Given the description of an element on the screen output the (x, y) to click on. 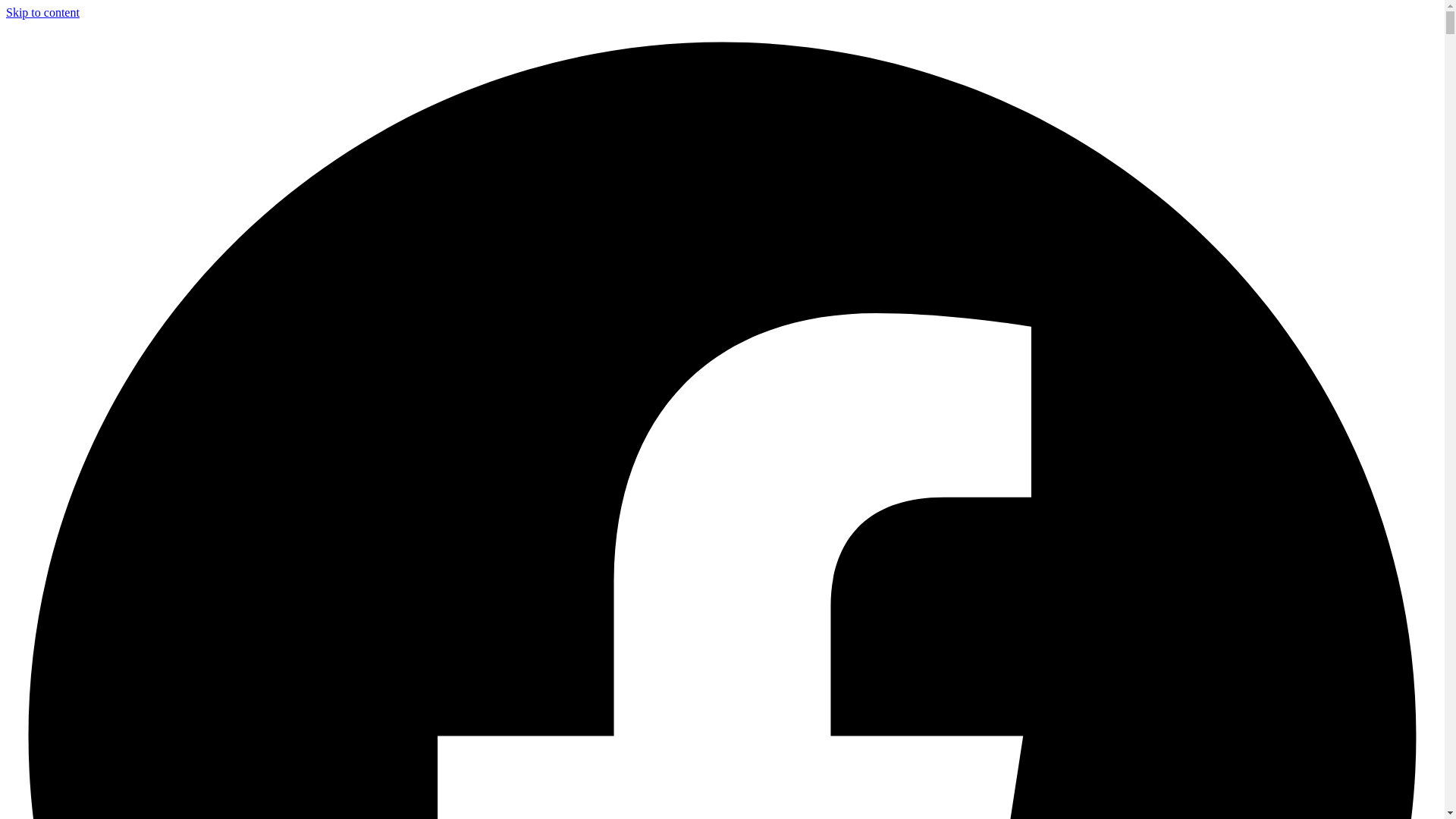
Skip to content Element type: text (42, 12)
